Given the description of an element on the screen output the (x, y) to click on. 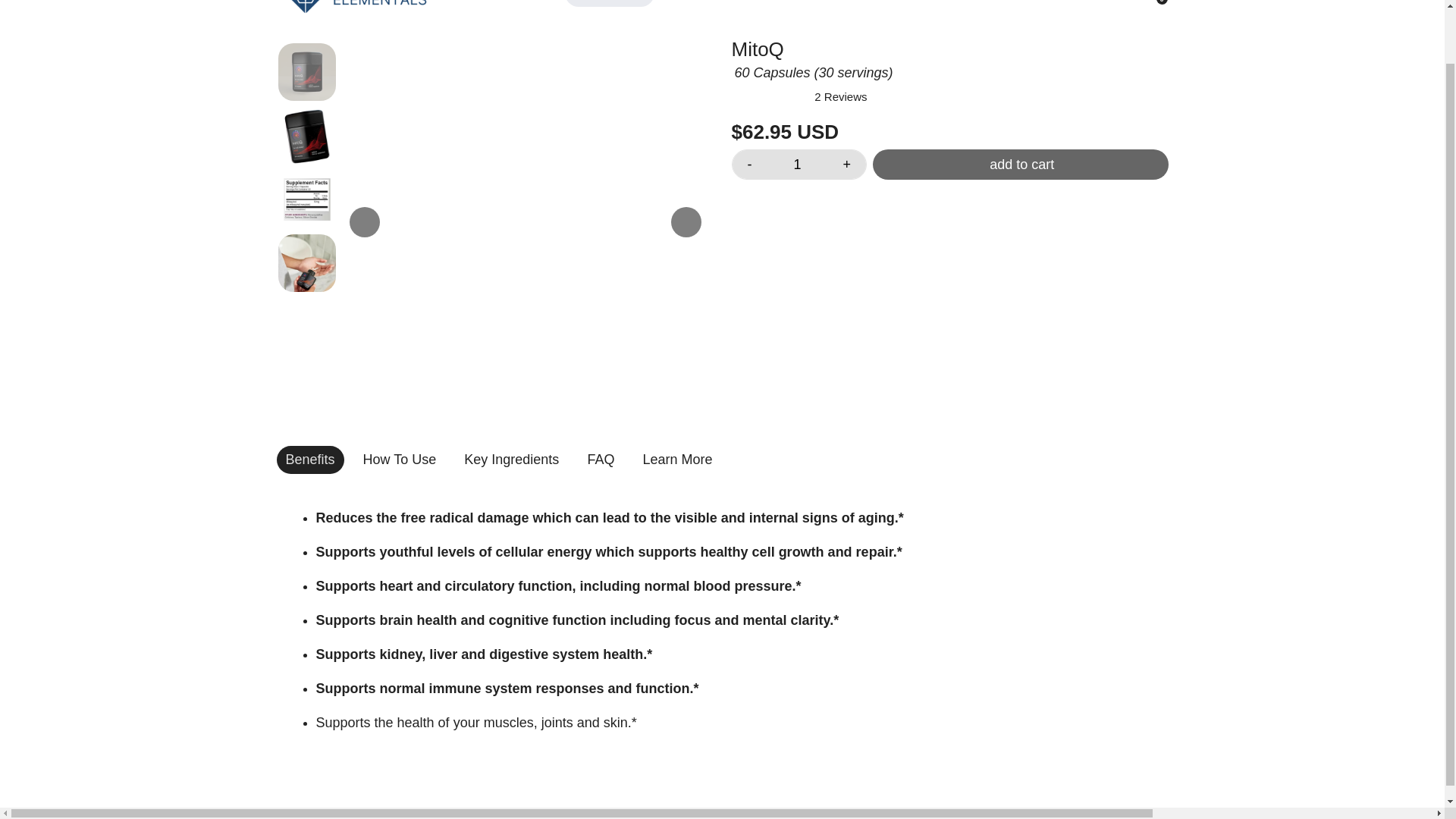
1 (797, 164)
Learn (697, 11)
Blog (762, 11)
Our Products (610, 11)
Resources (841, 11)
